Given the description of an element on the screen output the (x, y) to click on. 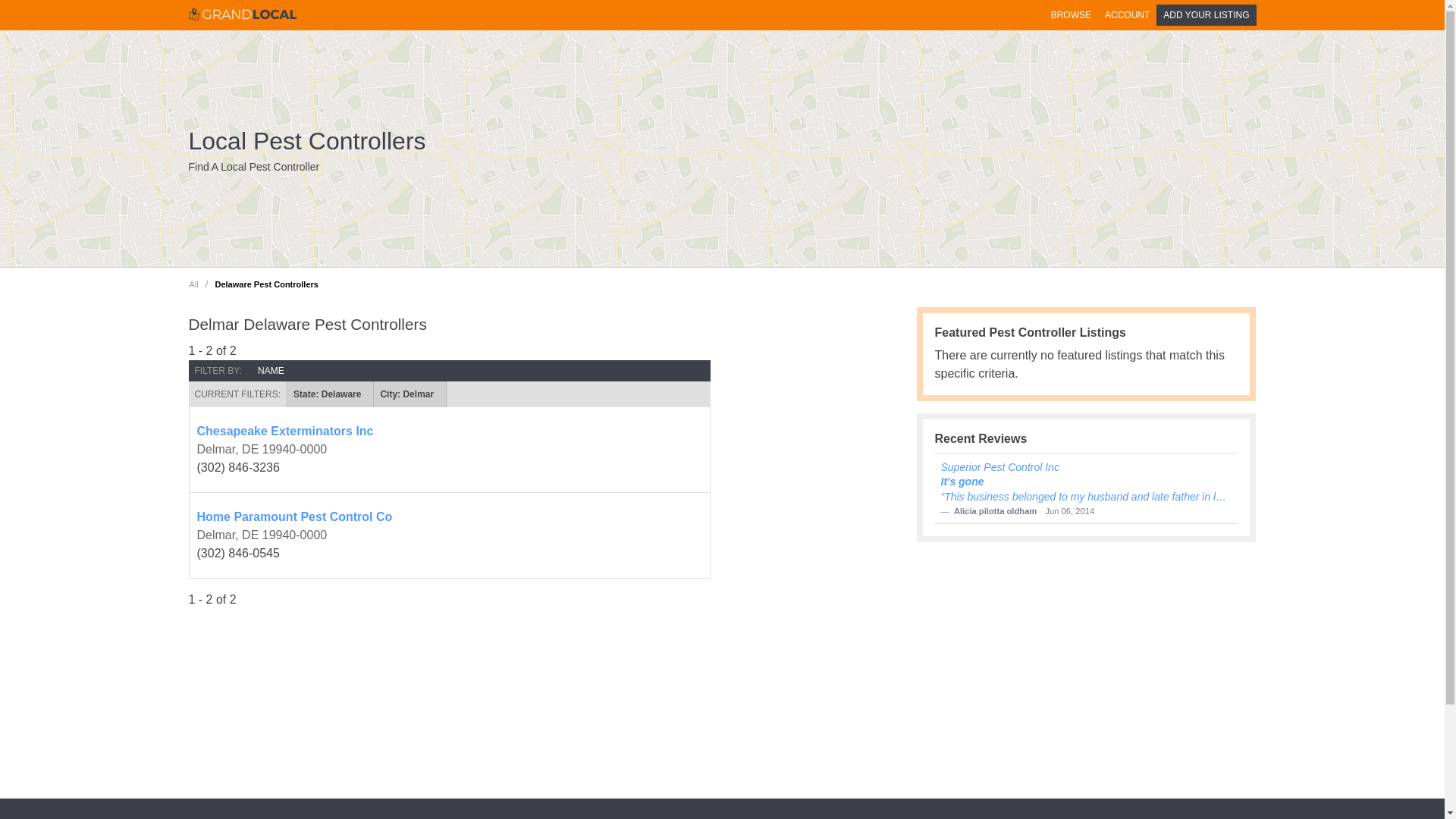
Delaware Pest Controllers (266, 283)
Local Pest Controllers (306, 140)
ACCOUNT (1126, 14)
Chesapeake Exterminators Inc (448, 431)
BROWSE (1070, 14)
Home Paramount Pest Control Co (448, 516)
Home Paramount Pest Control Co (448, 516)
Chesapeake Exterminators Inc (448, 431)
All (193, 283)
Advertisement (988, 148)
ADD YOUR LISTING (1205, 14)
